Given the description of an element on the screen output the (x, y) to click on. 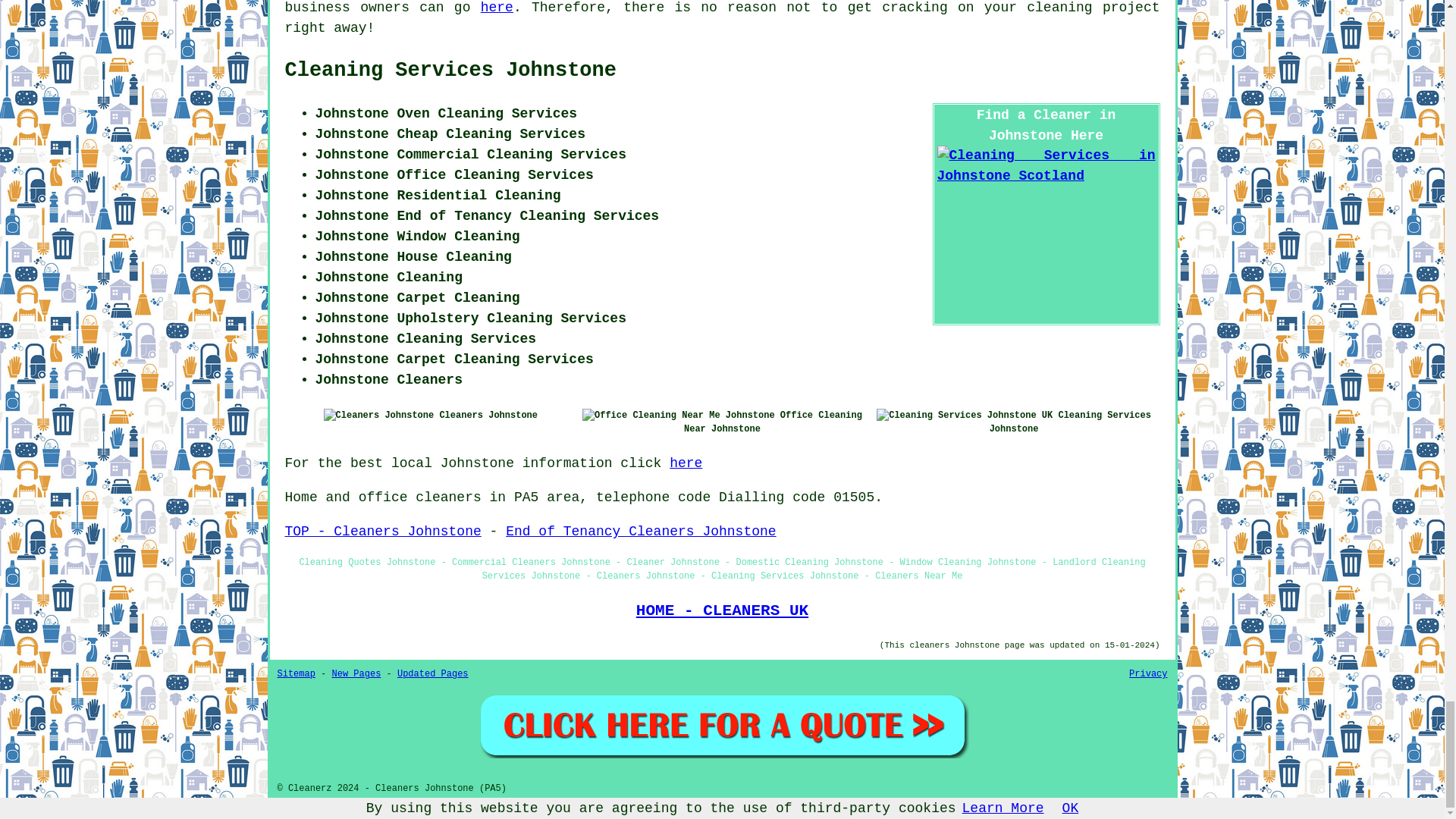
Cleaners Johnstone (378, 415)
Cleaning Services in Johnstone Scotland (1046, 165)
Office Cleaning Near Me Johnstone (678, 415)
